Given the description of an element on the screen output the (x, y) to click on. 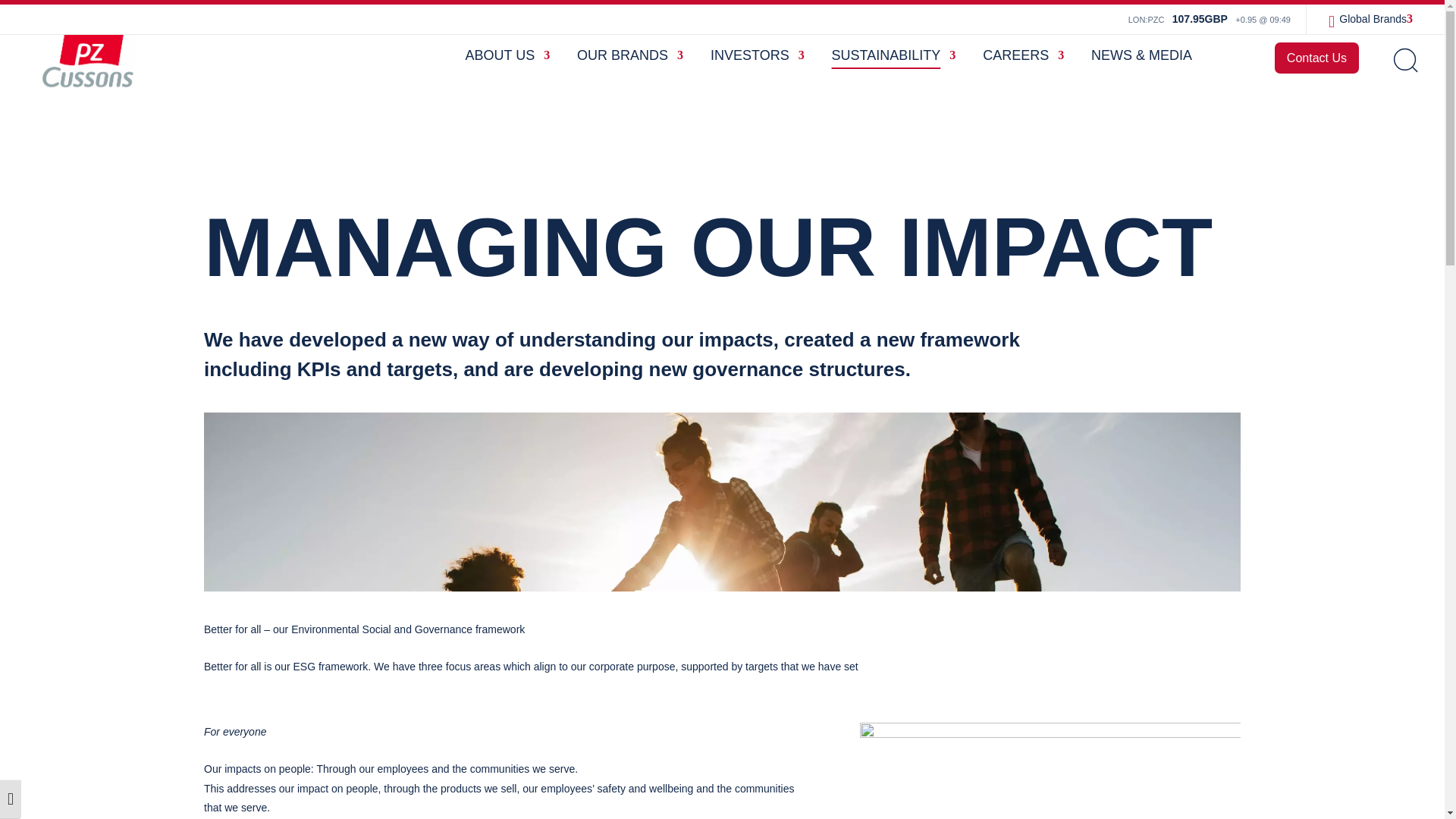
Global Brands (1380, 22)
43254 PZ SR P05 (1050, 770)
ABOUT US (507, 68)
